Given the description of an element on the screen output the (x, y) to click on. 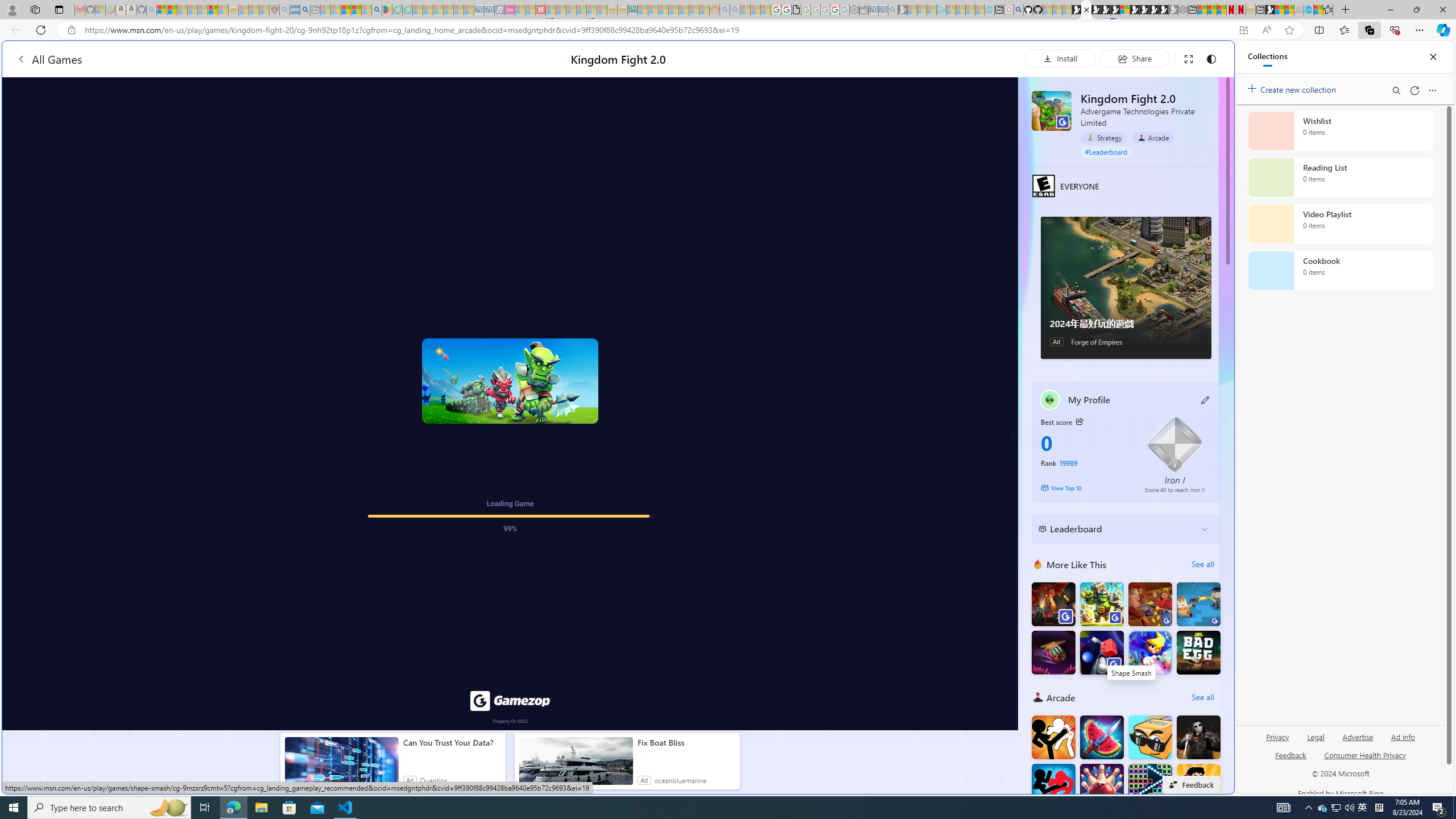
Play Cave FRVR in your browser | Games from Microsoft Start (922, 242)
All Games (49, 58)
utah sues federal government - Search (922, 389)
Video Playlist collection, 0 items (1339, 223)
Boxing fighter : Super punch (1198, 785)
